Given the description of an element on the screen output the (x, y) to click on. 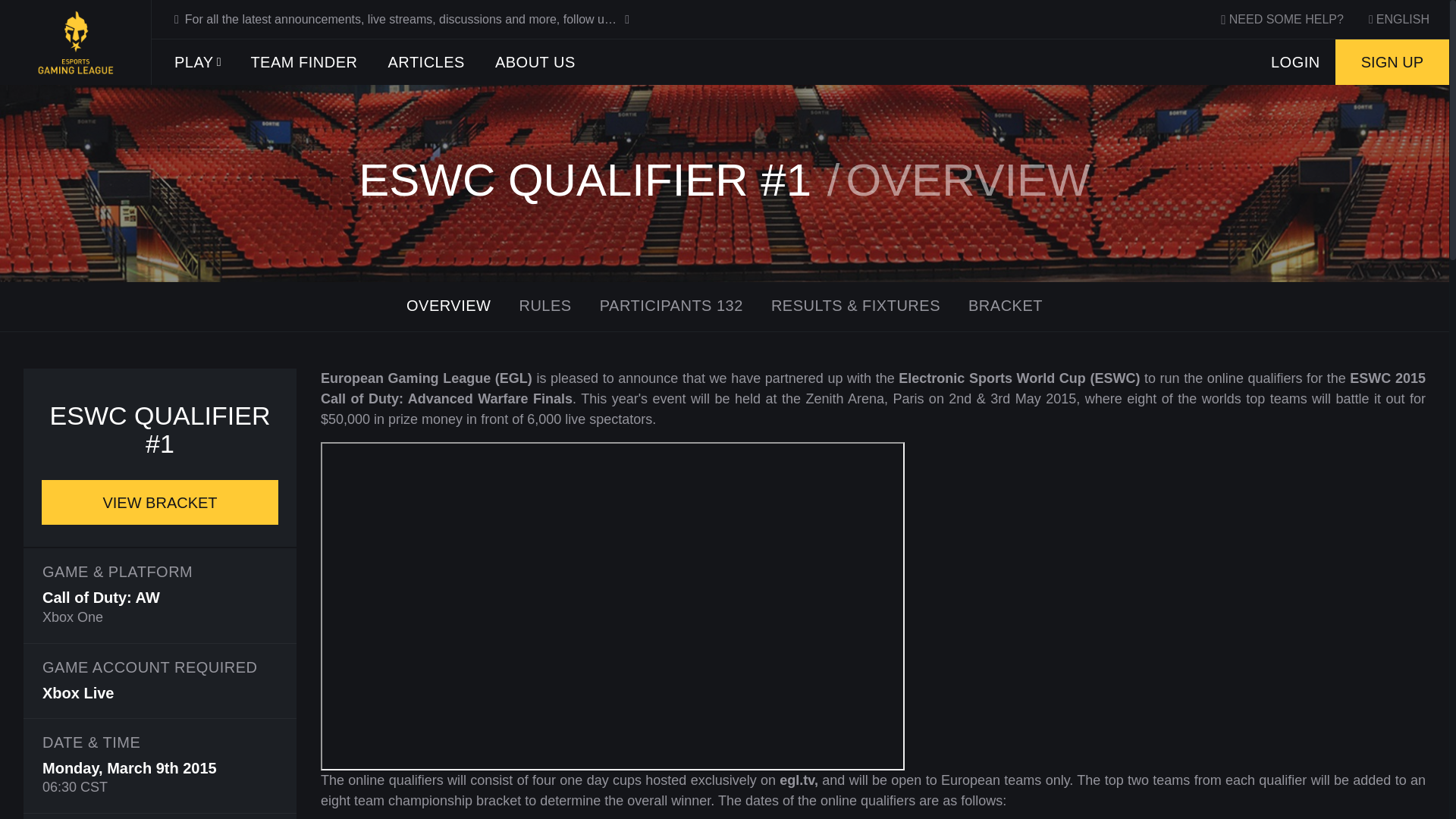
LOGIN (1295, 62)
RULES (544, 306)
BRACKET (1005, 306)
PLAY (196, 62)
ARTICLES (425, 62)
Please login to submit a ticket (1283, 18)
ABOUT US (535, 62)
ENGLISH (1398, 19)
PARTICIPANTS 132 (671, 306)
